Given the description of an element on the screen output the (x, y) to click on. 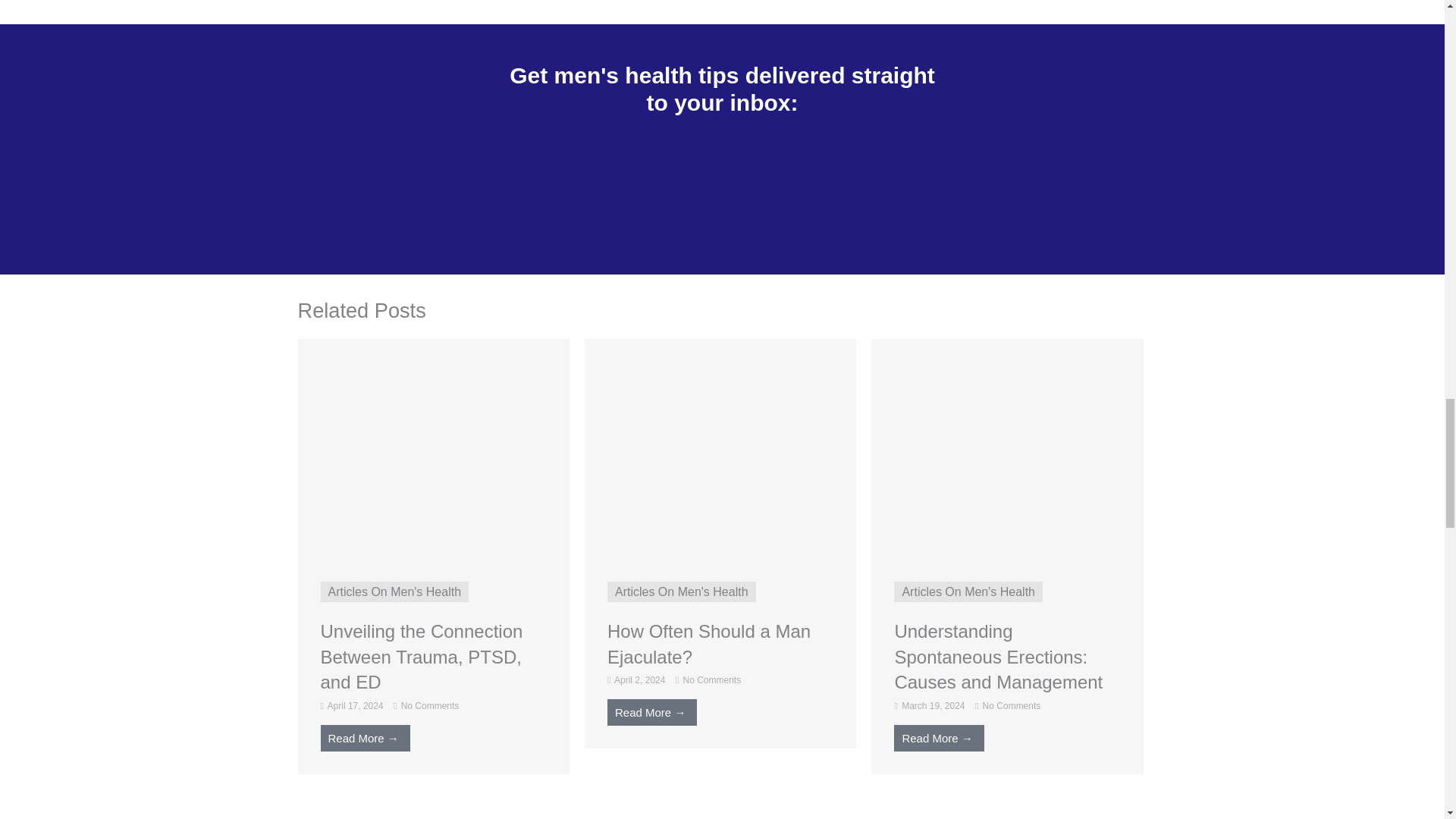
Form 0 (722, 183)
Understanding Spontaneous Erections: Causes and Management (1006, 447)
How Often Should a Man Ejaculate? (720, 447)
